Given the description of an element on the screen output the (x, y) to click on. 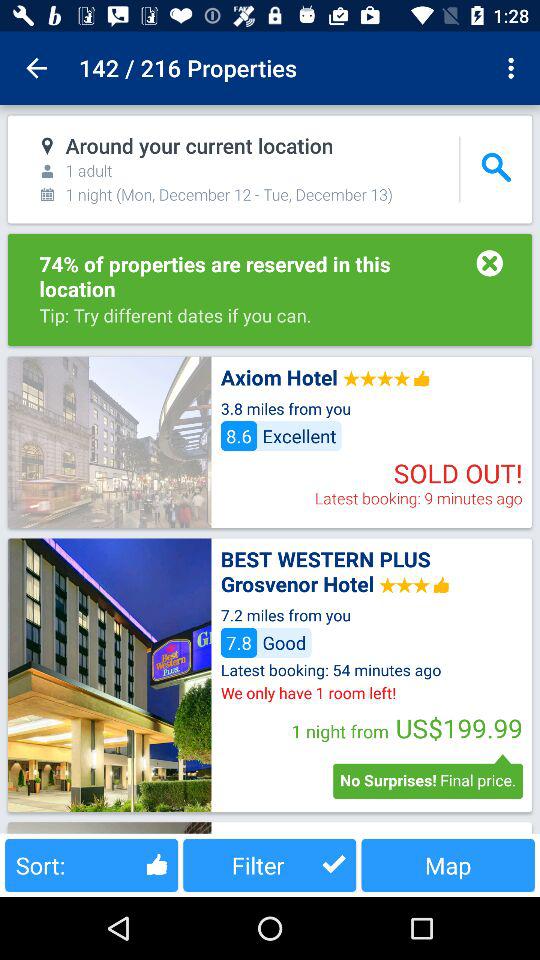
click on search icon next below 3 vertical dots at the top right corner of the page (495, 168)
click on map button which is at bottom right corner (448, 865)
